Given the description of an element on the screen output the (x, y) to click on. 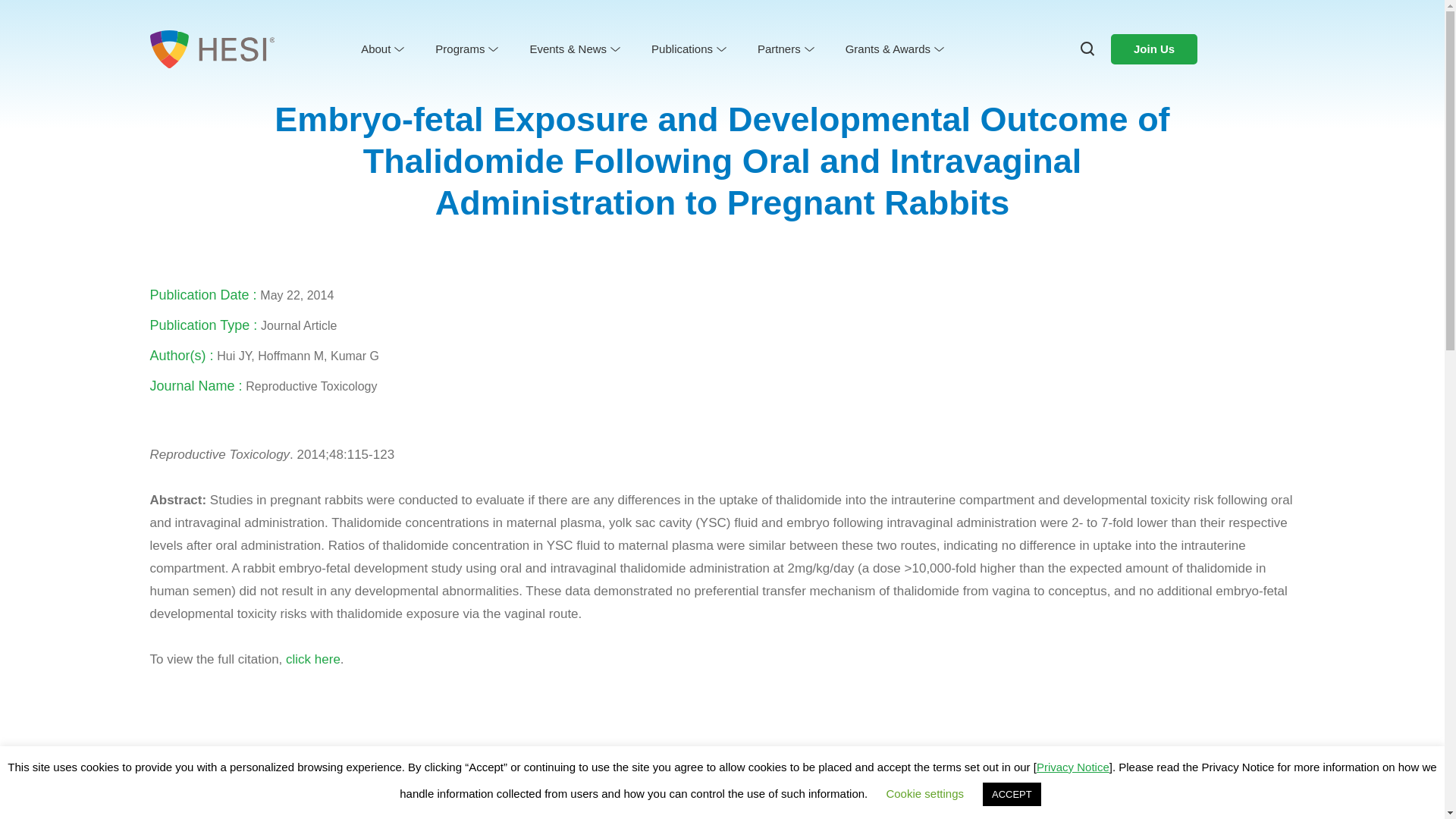
Peer-Reviewed Publications (723, 73)
Search (47, 22)
About HESI (409, 73)
About (381, 48)
THRIVE (891, 73)
Publications (686, 48)
HESI Conference Series (595, 73)
Partners (784, 48)
Current Partners (809, 73)
Join Us (1153, 49)
Programs (465, 48)
click here (312, 658)
